Given the description of an element on the screen output the (x, y) to click on. 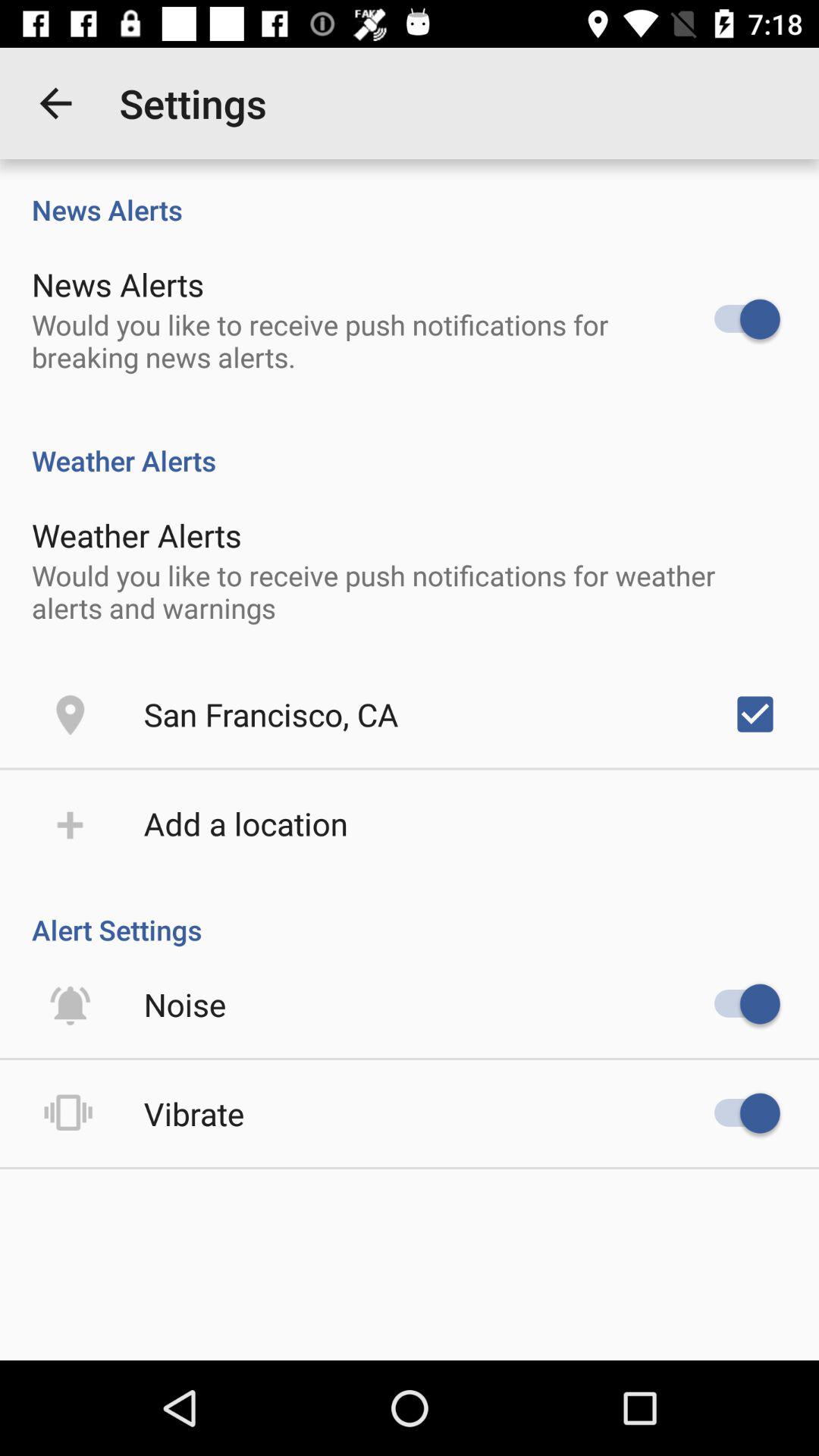
turn off the alert settings (409, 913)
